Given the description of an element on the screen output the (x, y) to click on. 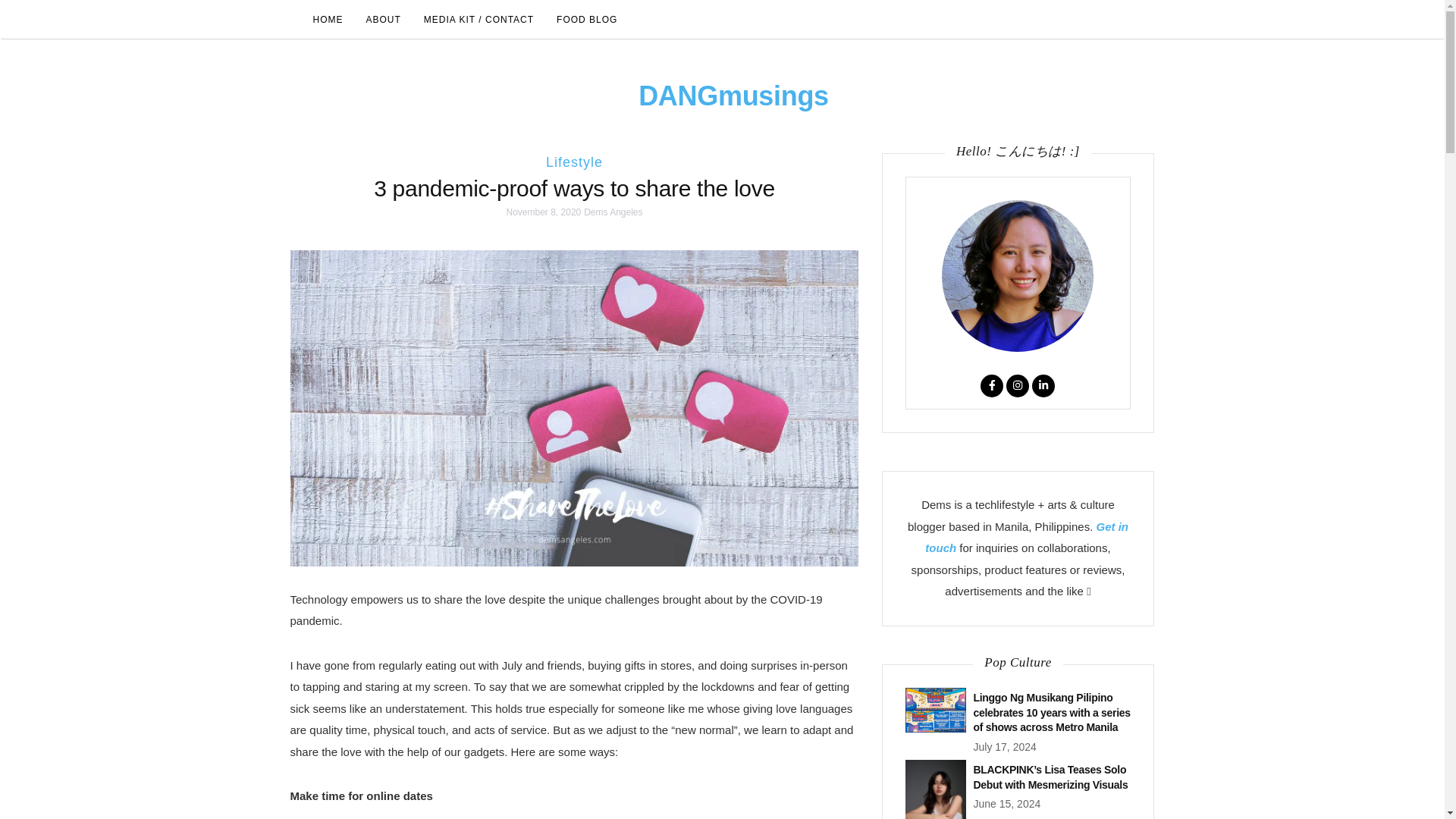
Get in touch (1026, 537)
Home (328, 19)
Posts by Dems Angeles (612, 212)
HOME (328, 19)
ABOUT (383, 19)
Food Blog (586, 19)
Lifestyle (574, 161)
3 pandemic-proof ways to share the love (574, 188)
About (383, 19)
